Given the description of an element on the screen output the (x, y) to click on. 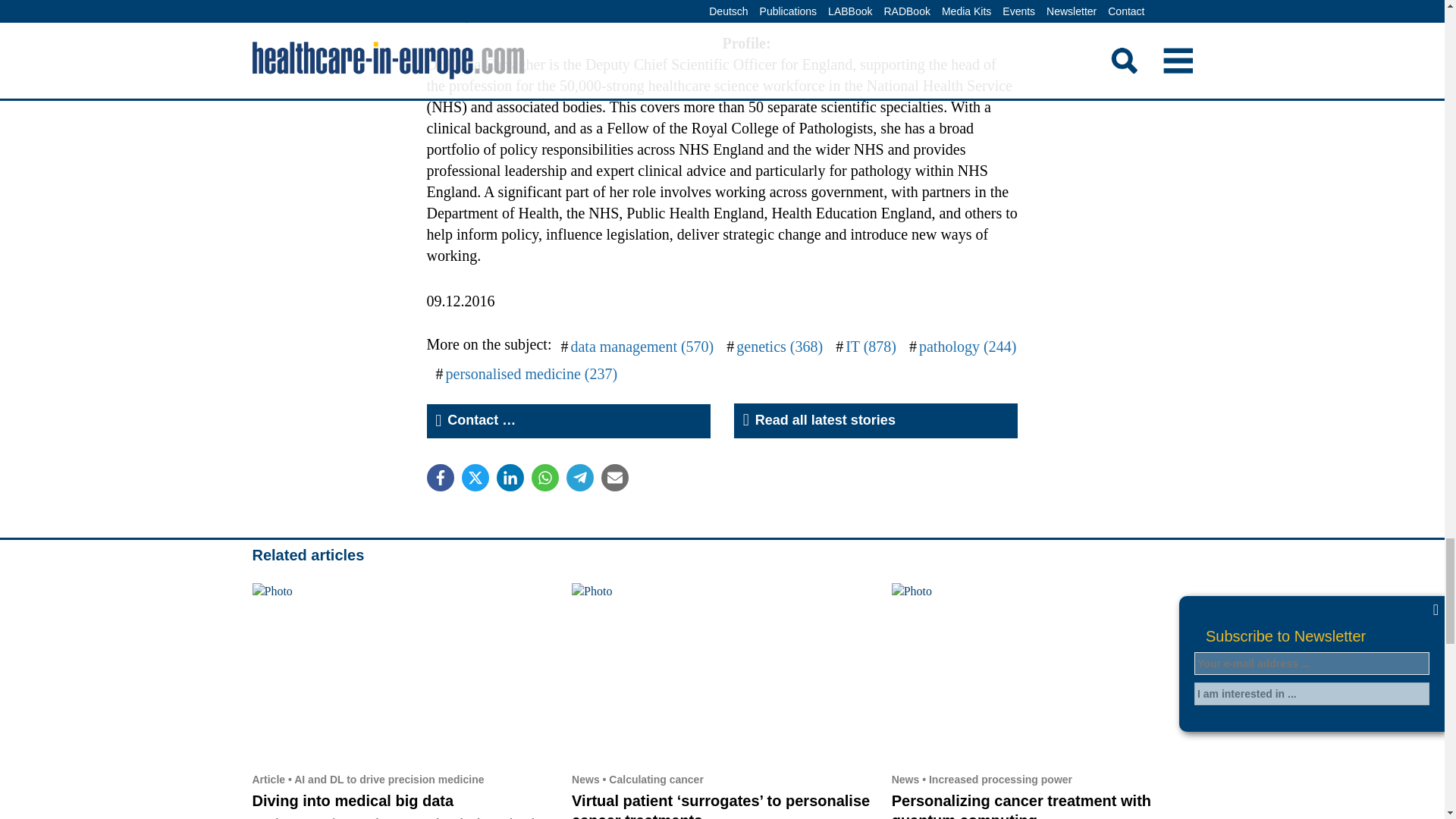
Share on Linked-in (509, 477)
Share on Telegram (579, 477)
Diving into medical big data (402, 673)
Personalizing cancer treatment with quantum computing (1041, 673)
Read all latest stories (875, 420)
Diving into medical big data (351, 800)
Share via e-mail (613, 477)
Personalizing cancer treatment with quantum computing (1021, 805)
Share on WhatsApp (544, 477)
Share on facebook (439, 477)
Diving into medical big data (351, 800)
Share on twitter (474, 477)
